Given the description of an element on the screen output the (x, y) to click on. 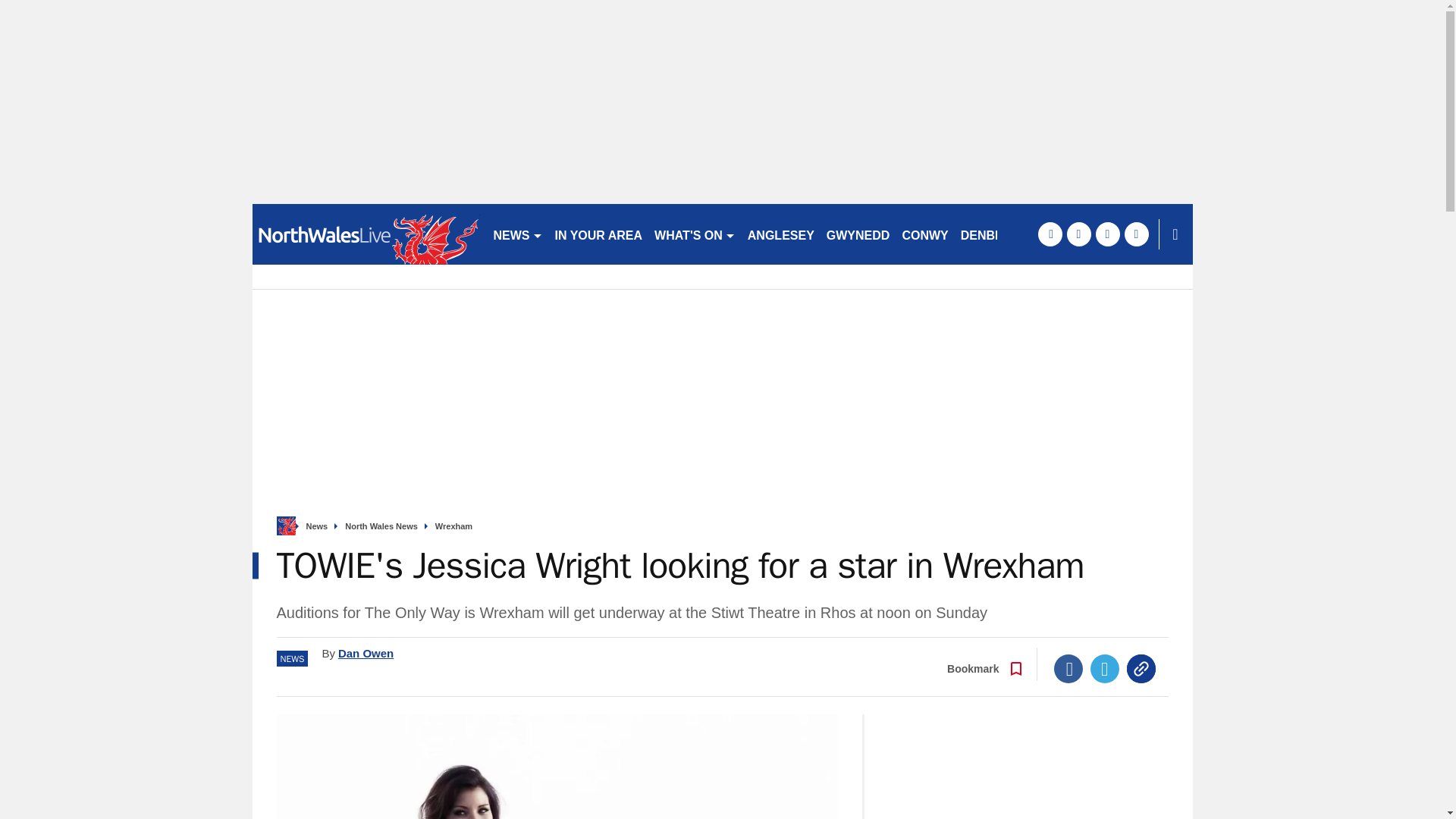
CONWY (924, 233)
ANGLESEY (781, 233)
pinterest (1106, 233)
WHAT'S ON (694, 233)
facebook (1048, 233)
Facebook (1068, 668)
IN YOUR AREA (598, 233)
DENBIGHSHIRE (1007, 233)
twitter (1077, 233)
GWYNEDD (858, 233)
